Given the description of an element on the screen output the (x, y) to click on. 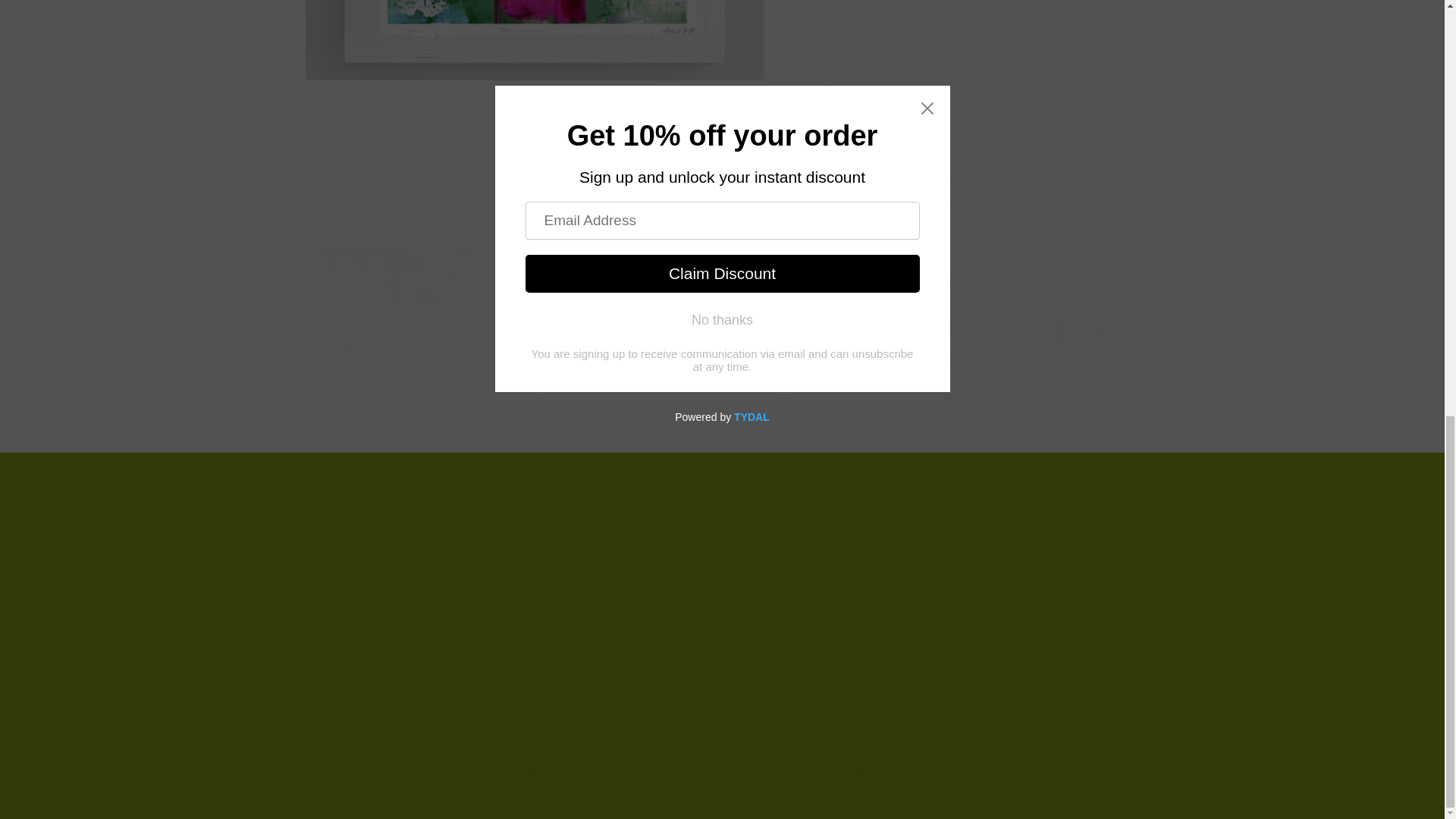
Subscribe to Studio News (721, 514)
Email (722, 604)
